Given the description of an element on the screen output the (x, y) to click on. 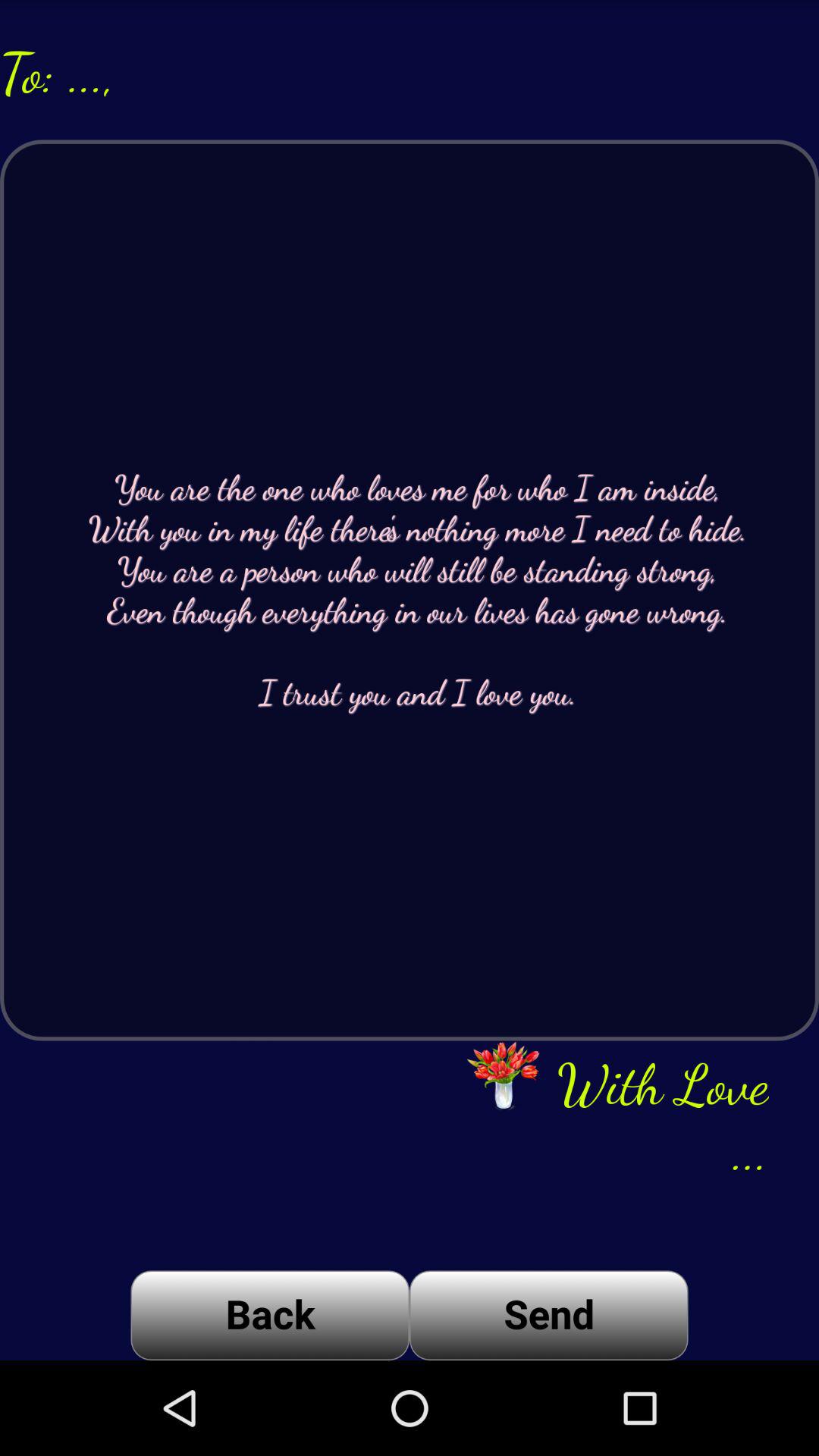
tap back icon (269, 1315)
